Given the description of an element on the screen output the (x, y) to click on. 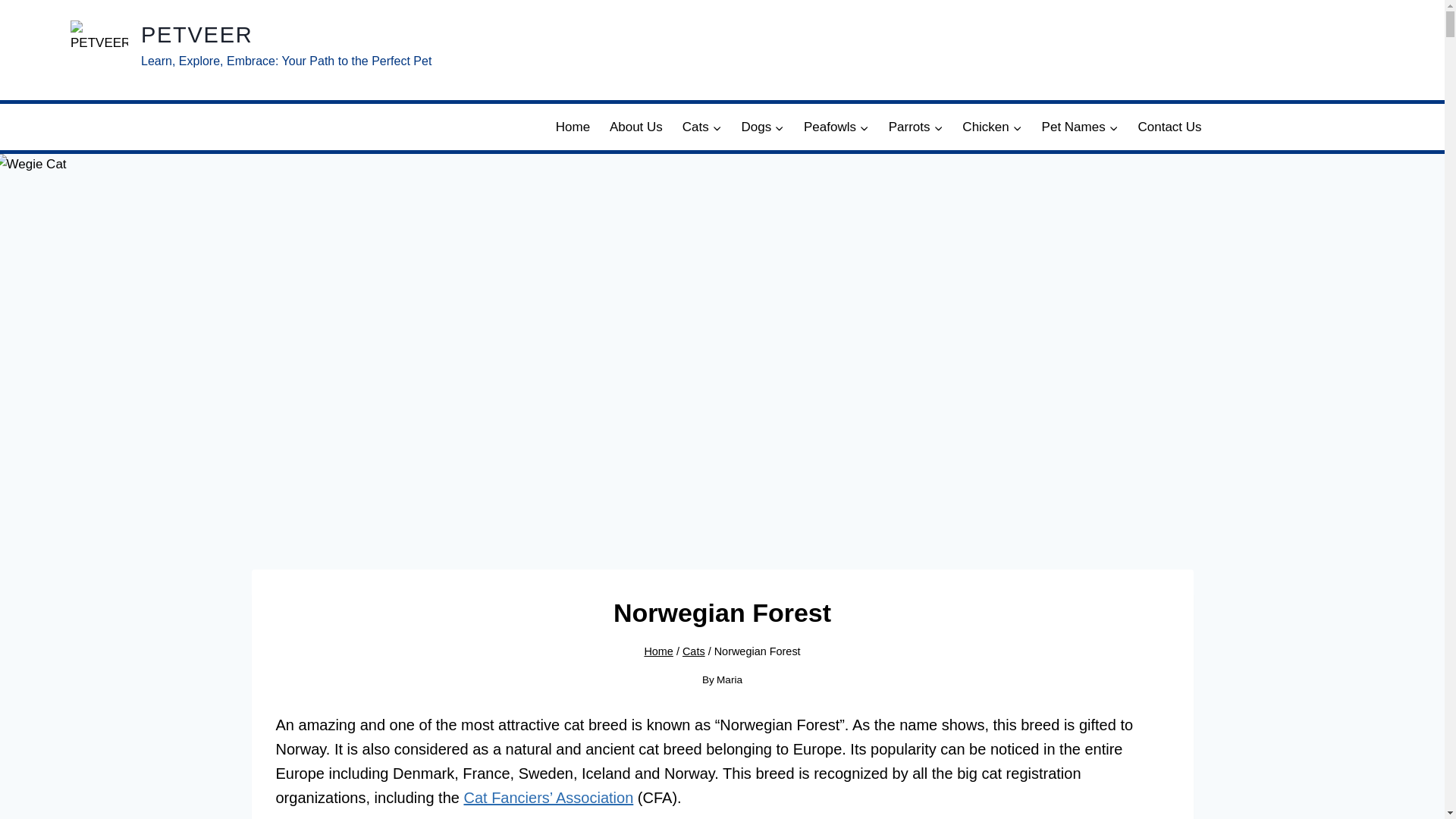
Parrots (916, 126)
Chicken (991, 126)
Contact Us (1169, 126)
Cats (702, 126)
Home (572, 126)
Pet Names (1080, 126)
About Us (635, 126)
Dogs (763, 126)
Peafowls (836, 126)
